Given the description of an element on the screen output the (x, y) to click on. 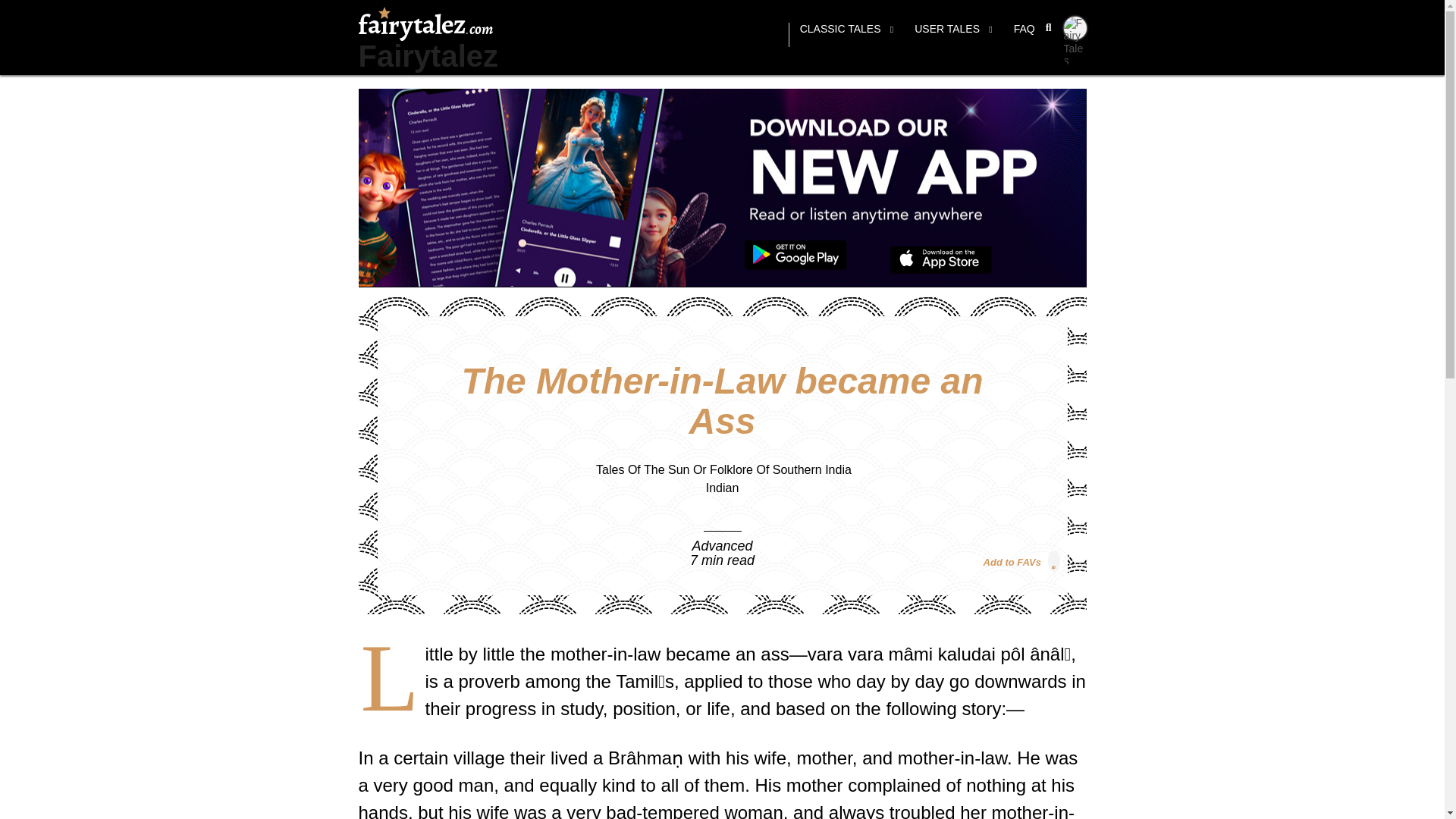
Indian (722, 487)
Fairytalez audio book ios app (940, 260)
Fairytalez (427, 55)
Fairytalez audio book android app (795, 255)
FAQ (1024, 34)
USER TALES (953, 34)
Add to FAVs (1021, 560)
CLASSIC TALES (846, 34)
Tales Of The Sun Or Folklore Of Southern India (723, 469)
